Given the description of an element on the screen output the (x, y) to click on. 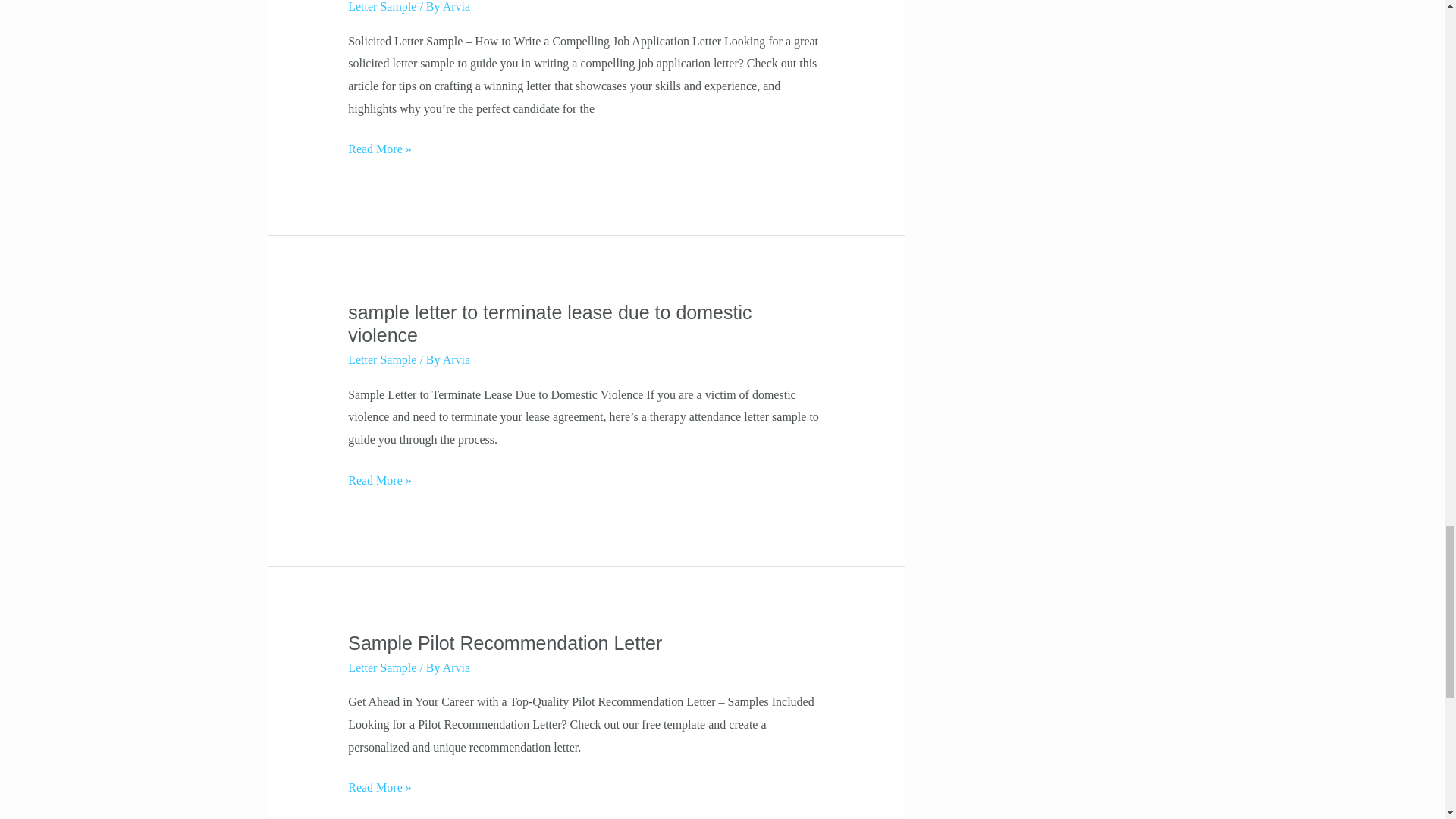
View all posts by Arvia (456, 359)
View all posts by Arvia (456, 667)
View all posts by Arvia (456, 6)
